Given the description of an element on the screen output the (x, y) to click on. 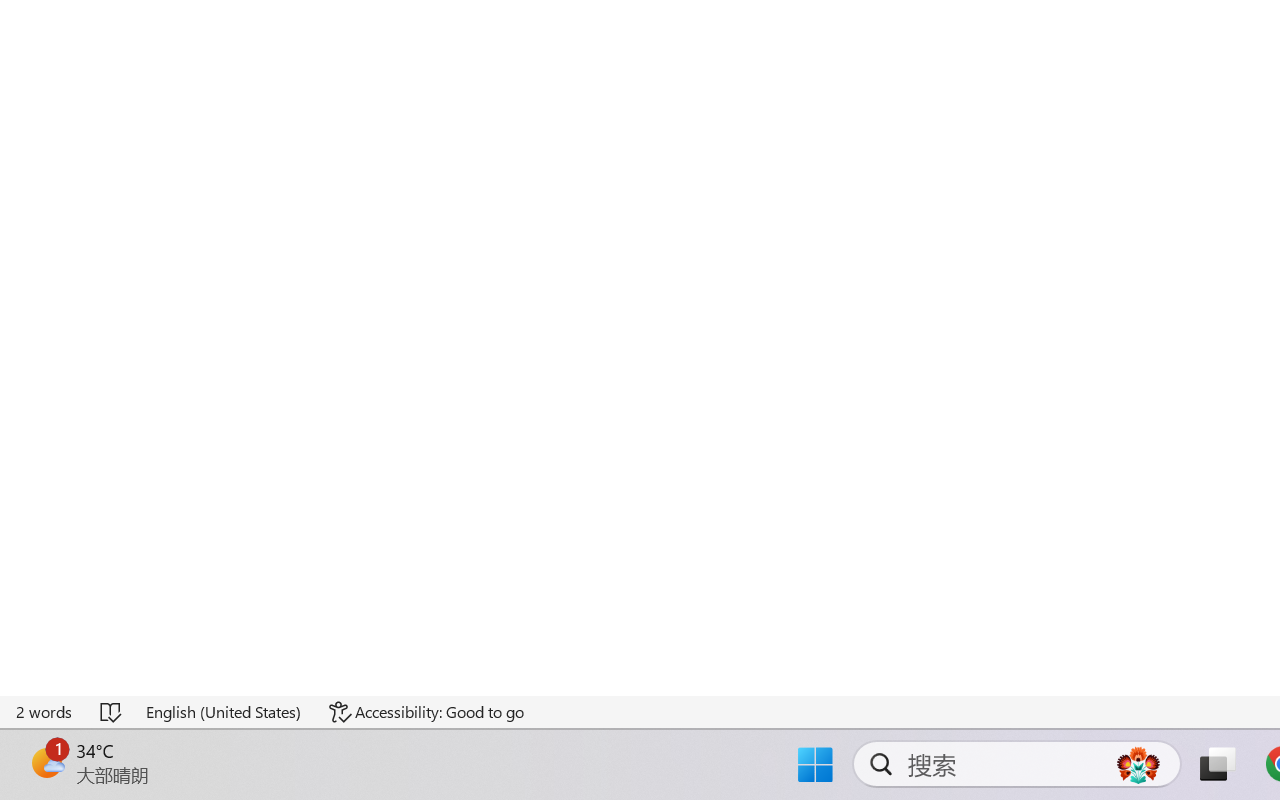
Word Count 2 words (45, 712)
Accessibility Checker Accessibility: Good to go (426, 712)
Language English (United States) (224, 712)
AutomationID: DynamicSearchBoxGleamImage (1138, 764)
Spelling and Grammar Check No Errors (112, 712)
AutomationID: BadgeAnchorLargeTicker (46, 762)
